Given the description of an element on the screen output the (x, y) to click on. 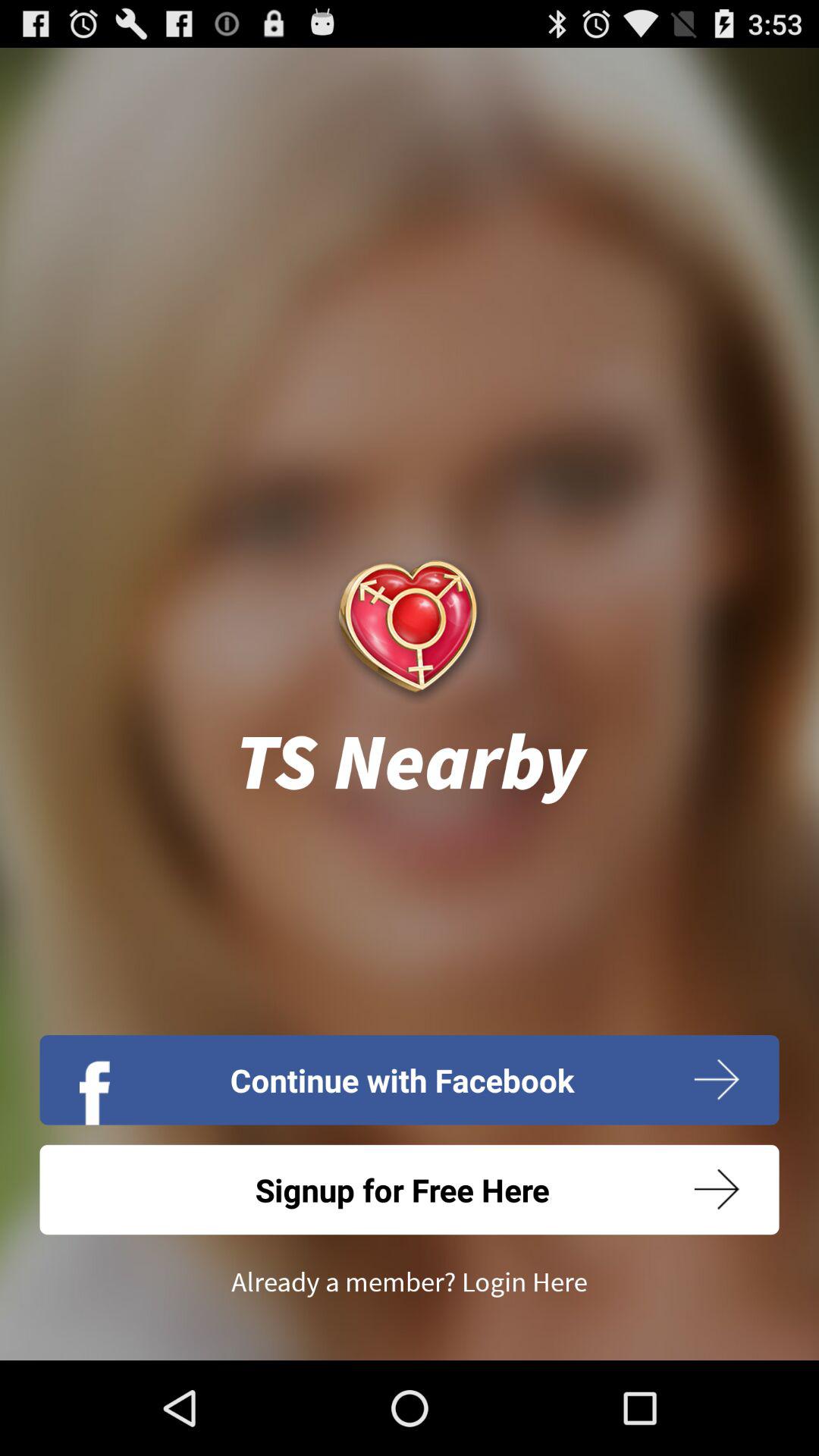
flip until the continue with facebook (409, 1079)
